Given the description of an element on the screen output the (x, y) to click on. 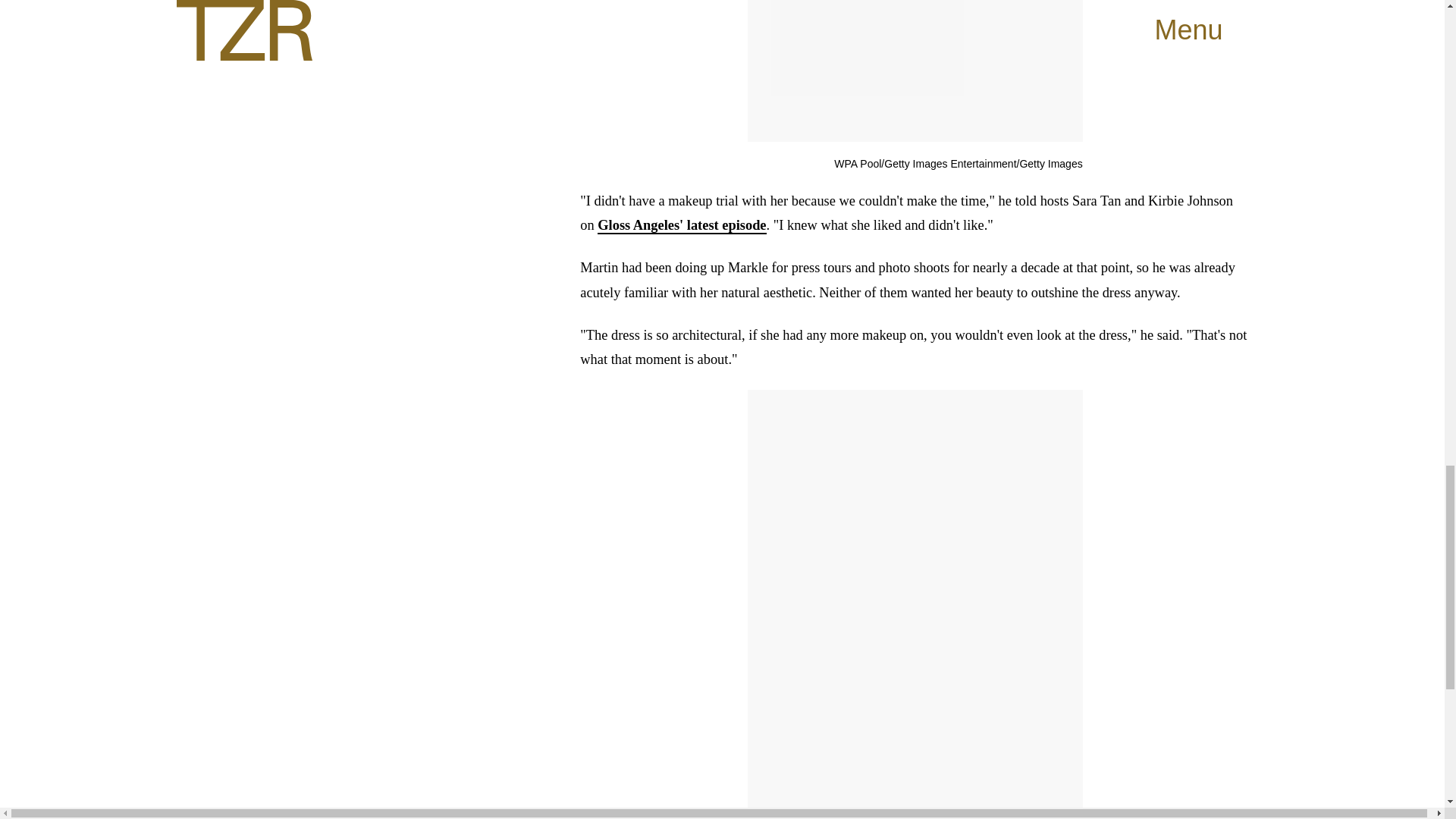
Gloss Angeles' latest episode (680, 225)
